Given the description of an element on the screen output the (x, y) to click on. 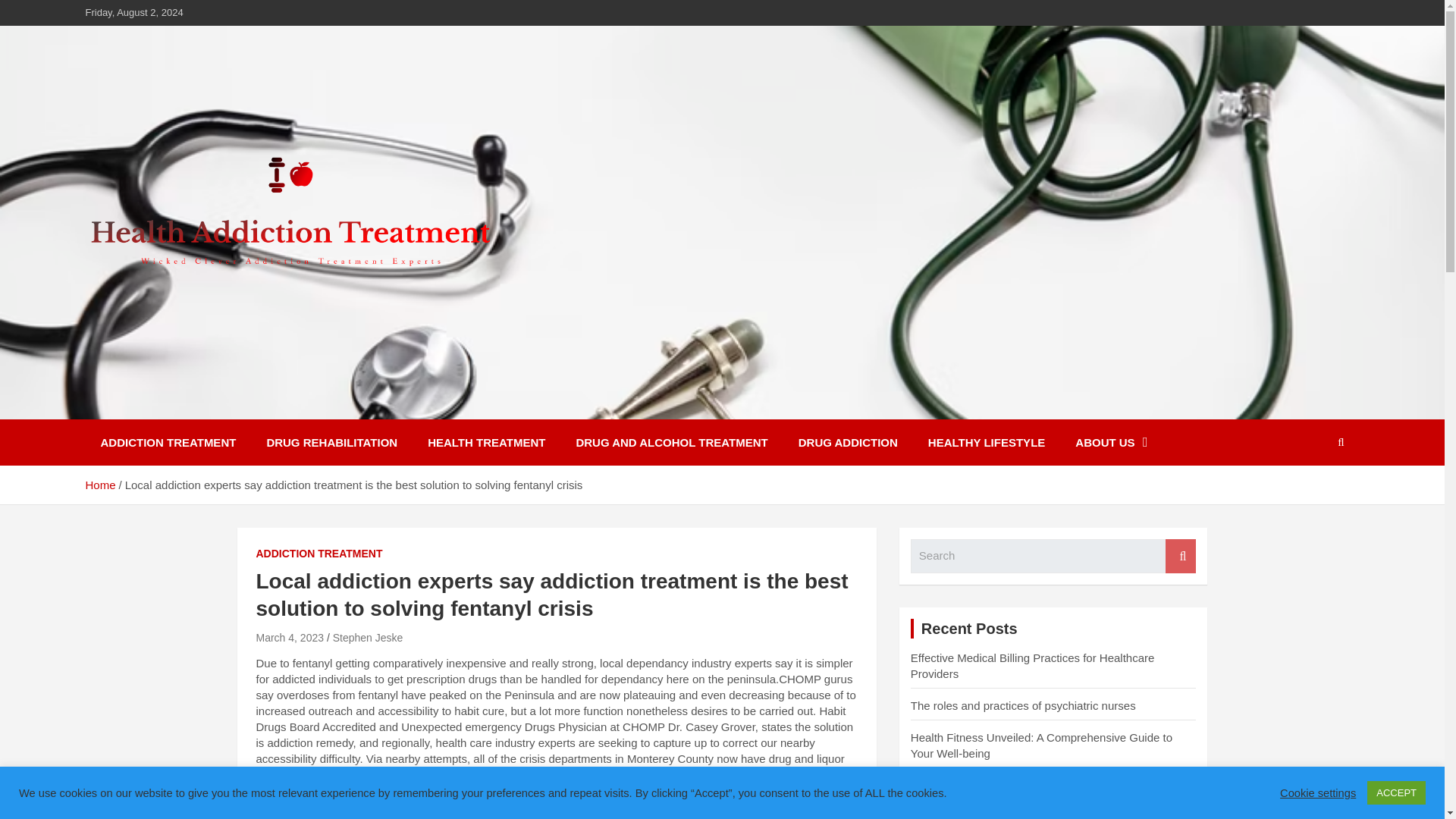
DRUG REHABILITATION (331, 442)
March 4, 2023 (290, 637)
The roles and practices of psychiatric nurses (1023, 705)
Home (99, 484)
Drug And Alcohol Treatment: A Path to Recovery (1033, 814)
HEALTHY LIFESTYLE (985, 442)
ADDICTION TREATMENT (167, 442)
Stephen Jeske (368, 637)
DRUG ADDICTION (847, 442)
HEALTH TREATMENT (486, 442)
ADDICTION TREATMENT (319, 554)
Effective Medical Billing Practices for Healthcare Providers (1032, 665)
ABOUT US (1110, 442)
DRUG AND ALCOHOL TREATMENT (671, 442)
